Given the description of an element on the screen output the (x, y) to click on. 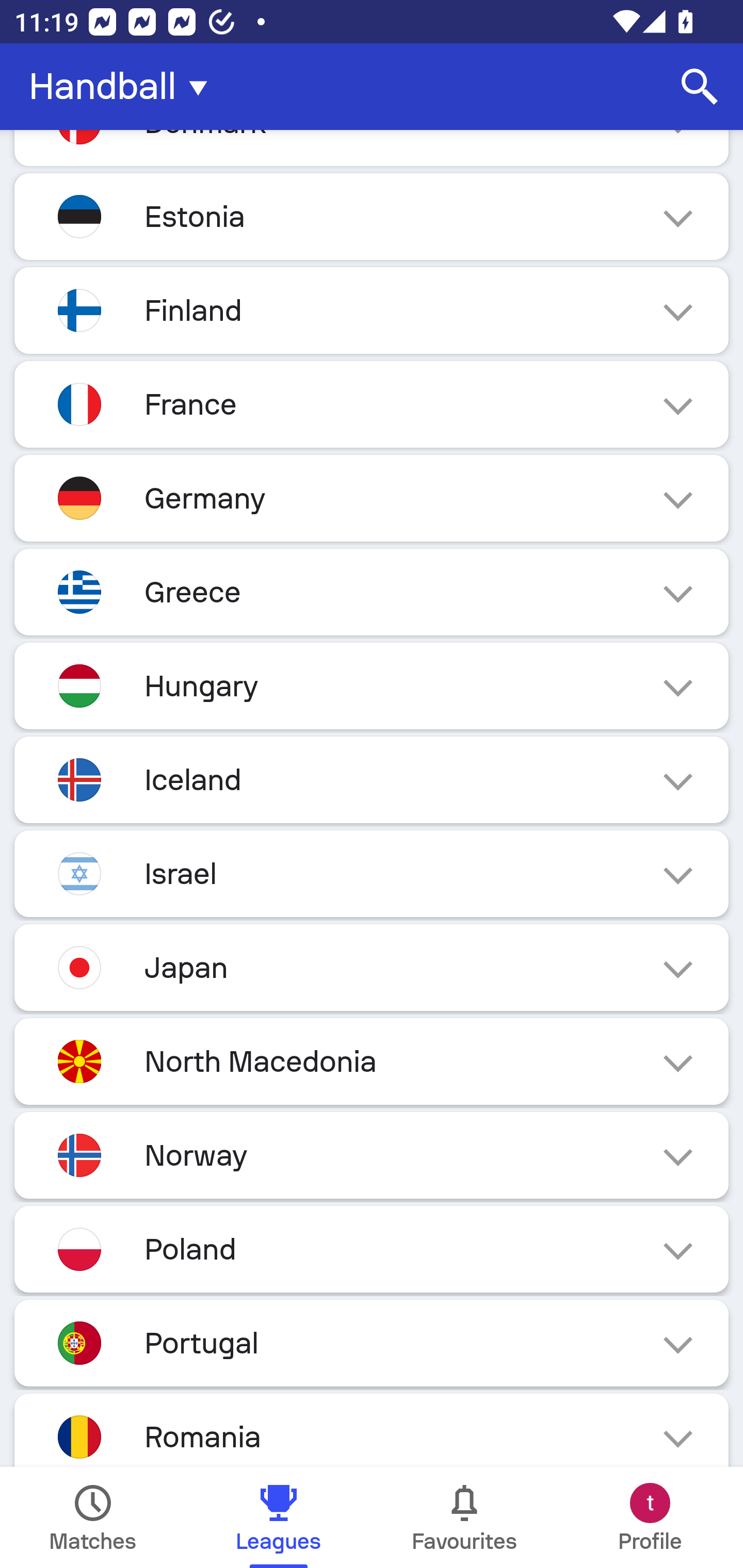
Handball (124, 86)
Search (699, 86)
Estonia (371, 217)
Finland (371, 310)
France (371, 404)
Germany (371, 497)
Greece (371, 591)
Hungary (371, 685)
Iceland (371, 779)
Israel (371, 874)
Japan (371, 967)
North Macedonia (371, 1061)
Norway (371, 1154)
Poland (371, 1248)
Portugal (371, 1342)
Romania (371, 1430)
Matches (92, 1517)
Favourites (464, 1517)
Profile (650, 1517)
